Given the description of an element on the screen output the (x, y) to click on. 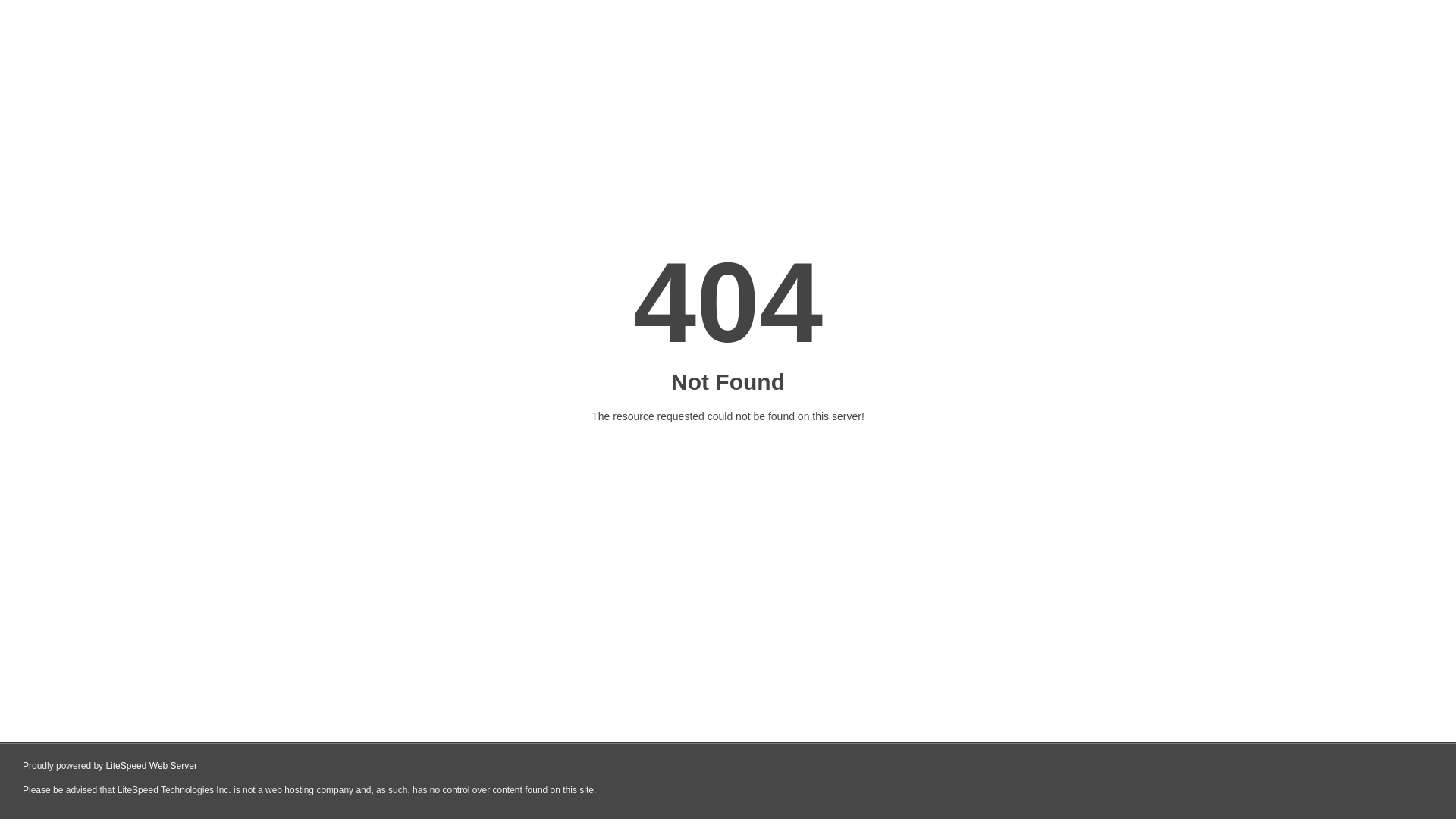
LiteSpeed Web Server (150, 765)
